Given the description of an element on the screen output the (x, y) to click on. 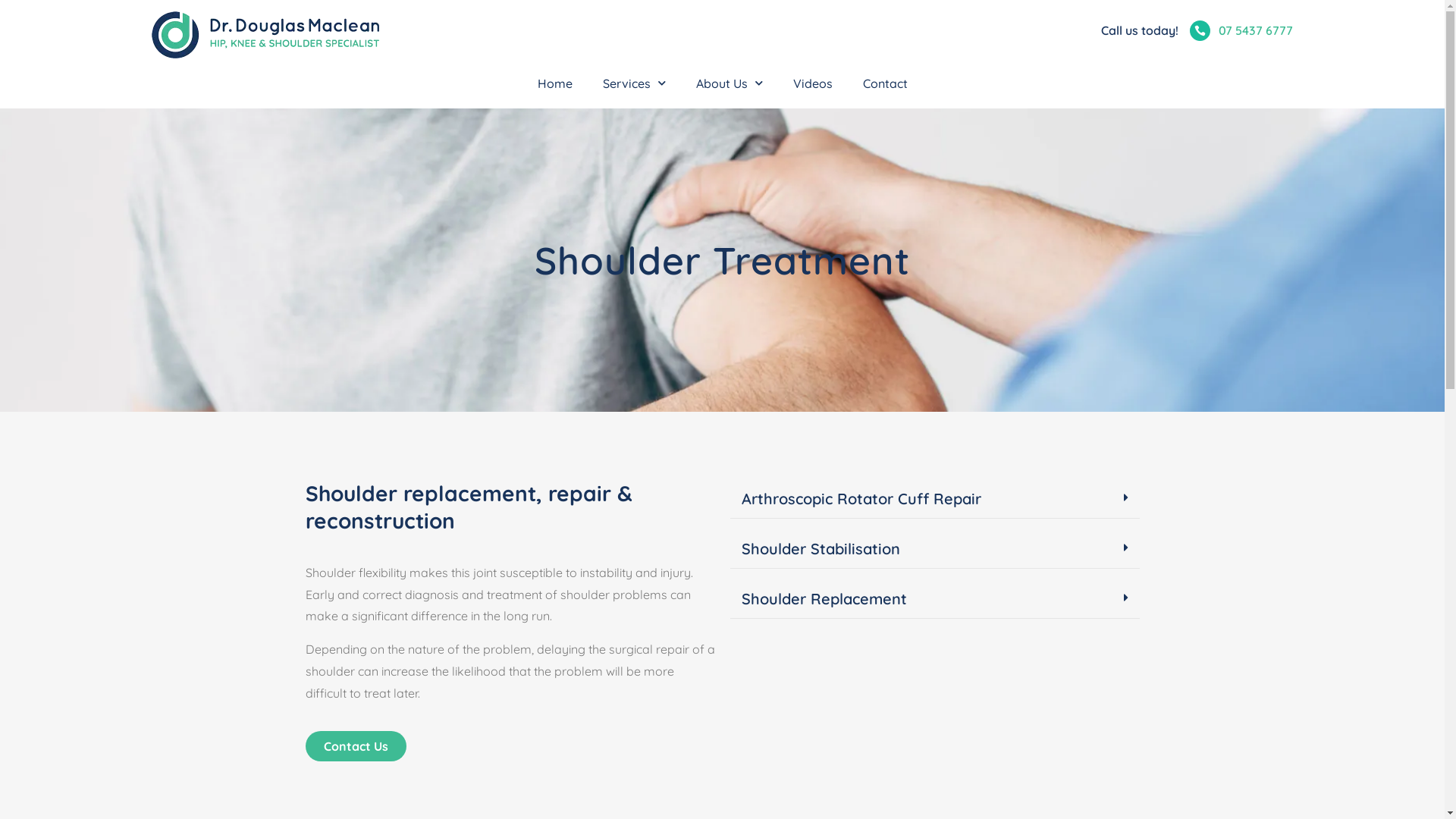
Videos Element type: text (812, 82)
Contact Us Element type: text (354, 746)
Shoulder Stabilisation Element type: text (820, 548)
Services Element type: text (633, 82)
Contact Element type: text (884, 82)
Home Element type: text (553, 82)
07 5437 6777 Element type: text (1255, 29)
Shoulder Replacement Element type: text (823, 598)
Arthroscopic Rotator Cuff Repair Element type: text (861, 498)
About Us Element type: text (729, 82)
